Given the description of an element on the screen output the (x, y) to click on. 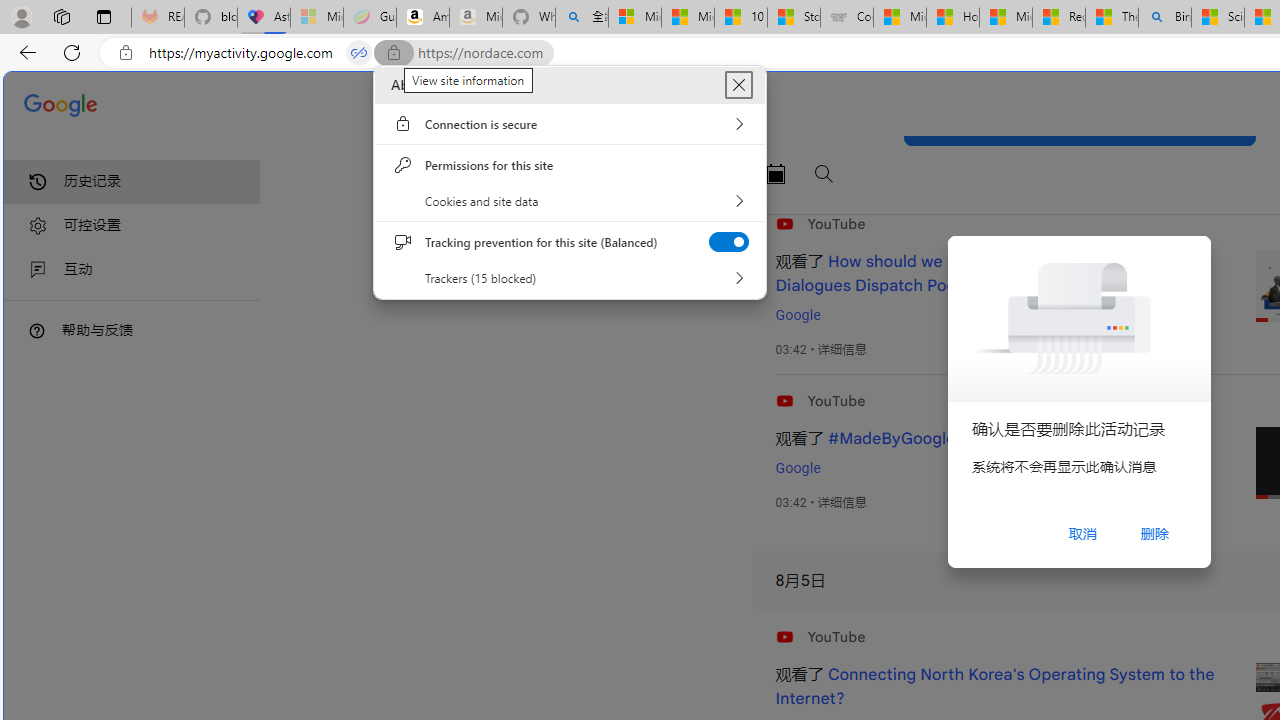
Connection is secure (570, 123)
Close (738, 85)
Recipes - MSN (1059, 17)
Trackers (15 blocked) (570, 277)
Tracking prevention for this site (Balanced) (728, 241)
About nordace.com (738, 85)
Personal Profile (21, 16)
Microsoft account | Privacy (634, 17)
Combat Siege (846, 17)
